Given the description of an element on the screen output the (x, y) to click on. 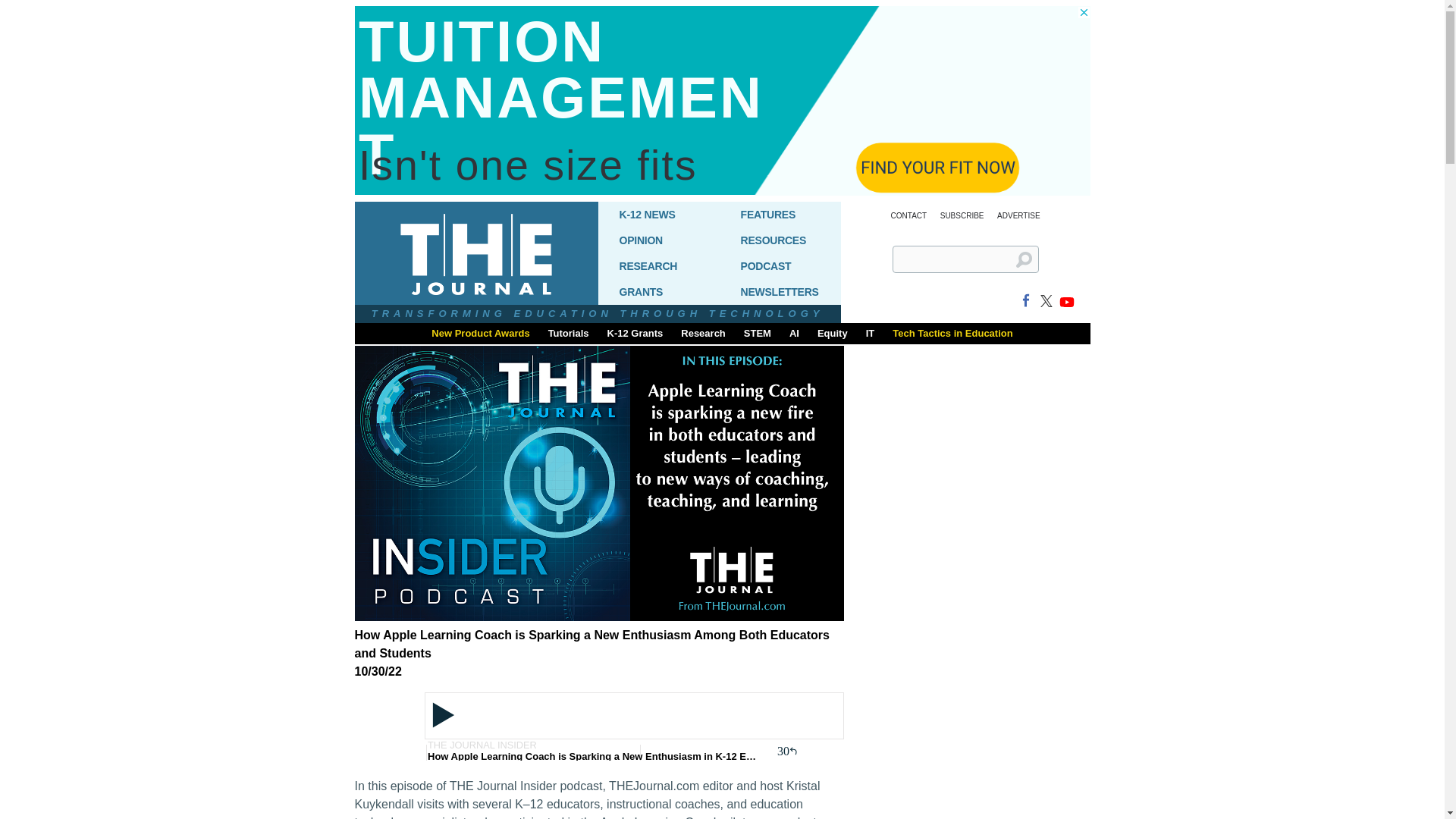
AI (794, 332)
IT (870, 332)
ADVERTISE (1018, 215)
PODCAST (780, 266)
K-12 NEWS (658, 214)
SUBSCRIBE (961, 215)
3rd party ad content (976, 816)
Tutorials (568, 332)
Search (1029, 265)
RESEARCH (658, 266)
3rd party ad content (976, 580)
RESOURCES (780, 240)
Equity (832, 332)
GRANTS (658, 291)
